Given the description of an element on the screen output the (x, y) to click on. 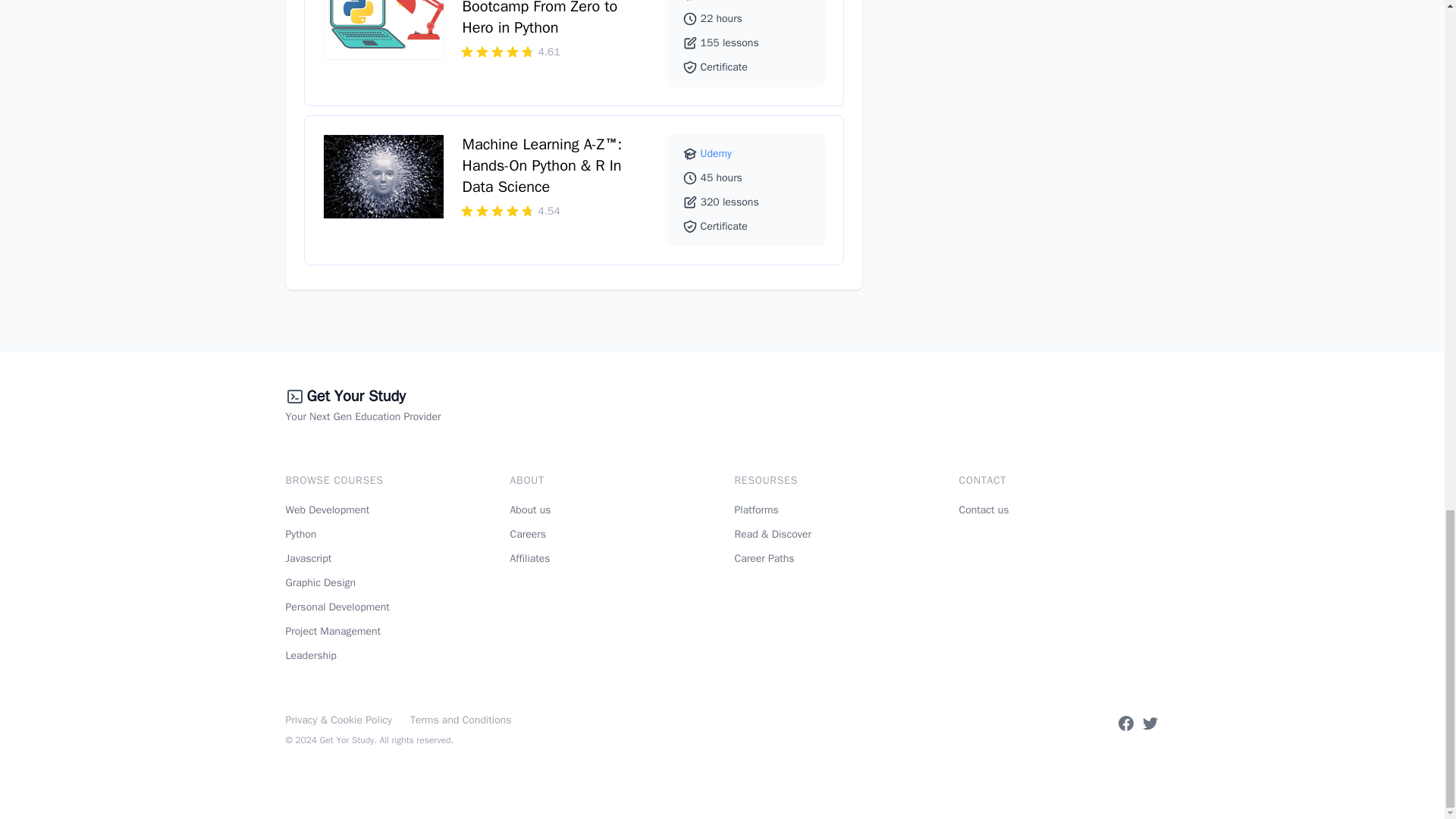
2022 Complete Python Bootcamp From Zero to Hero in Python (540, 18)
Get Your Study (354, 396)
Udemy (716, 153)
